Given the description of an element on the screen output the (x, y) to click on. 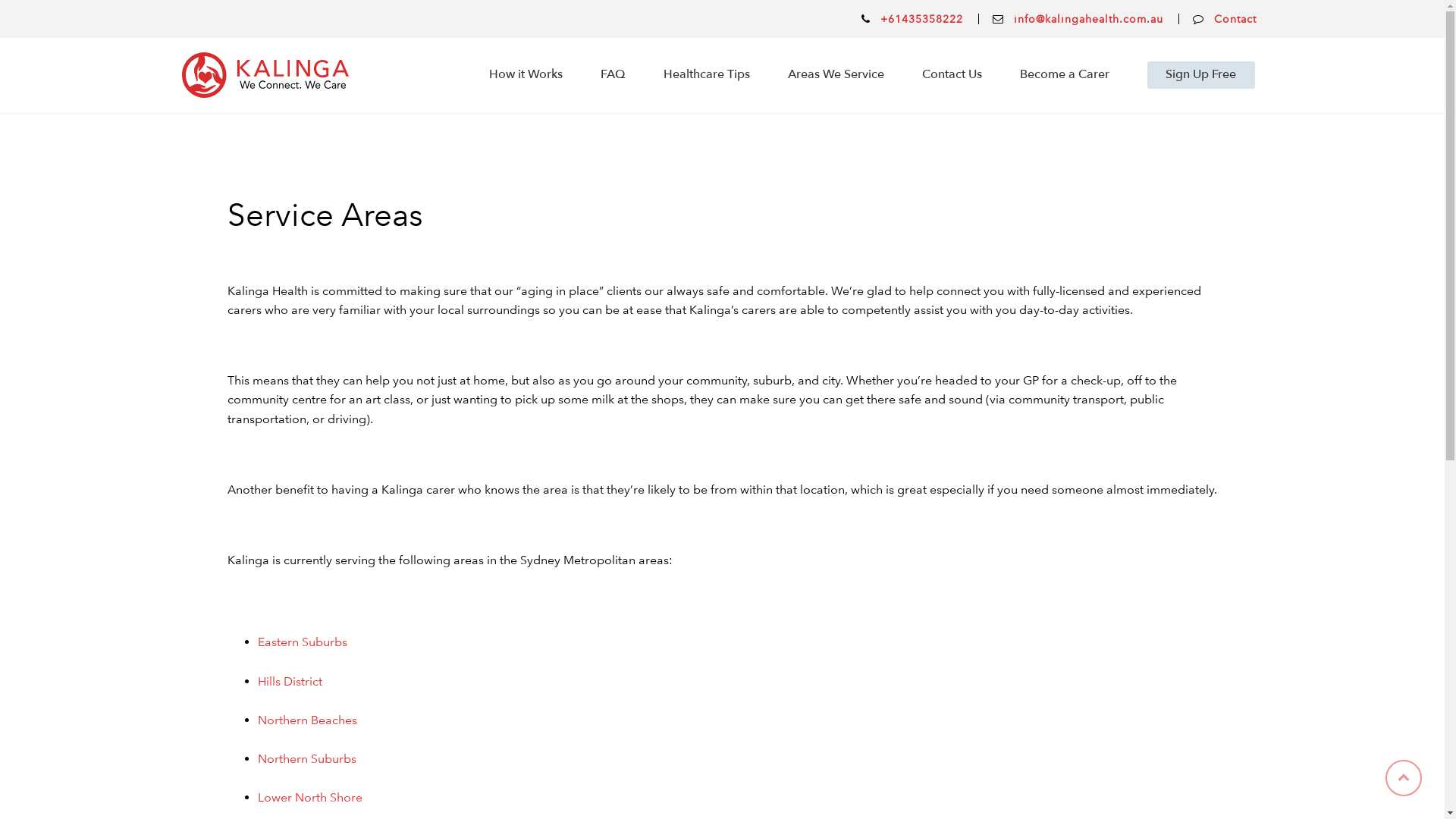
Hills District Element type: text (289, 681)
Become a Carer Element type: text (1064, 74)
FAQ Element type: text (612, 74)
Areas We Service Element type: text (835, 74)
Contact Us Element type: text (952, 74)
Northern Beaches Element type: text (307, 719)
Sign Up Free Element type: text (1201, 74)
Healthcare Tips Element type: text (706, 74)
Scroll To Top Element type: hover (1403, 777)
+61435358222 Element type: text (921, 18)
info@kalingahealth.com.au Element type: text (1088, 18)
Contact Element type: text (1235, 18)
How it Works Element type: text (525, 74)
Lower North Shore Element type: text (309, 797)
Eastern Suburbs Element type: text (302, 641)
Northern Suburbs Element type: text (306, 758)
